Given the description of an element on the screen output the (x, y) to click on. 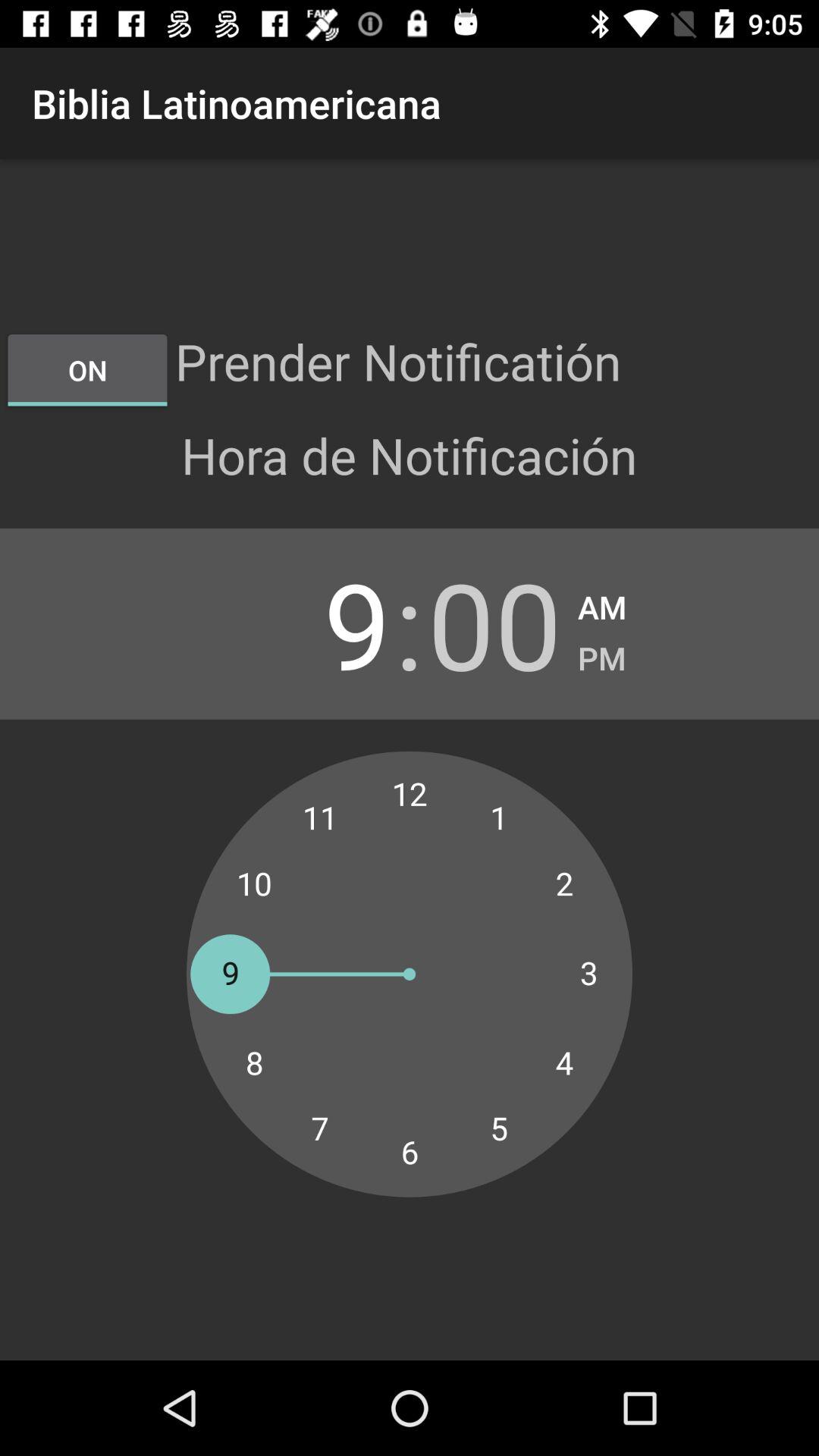
select the pm item (601, 653)
